Given the description of an element on the screen output the (x, y) to click on. 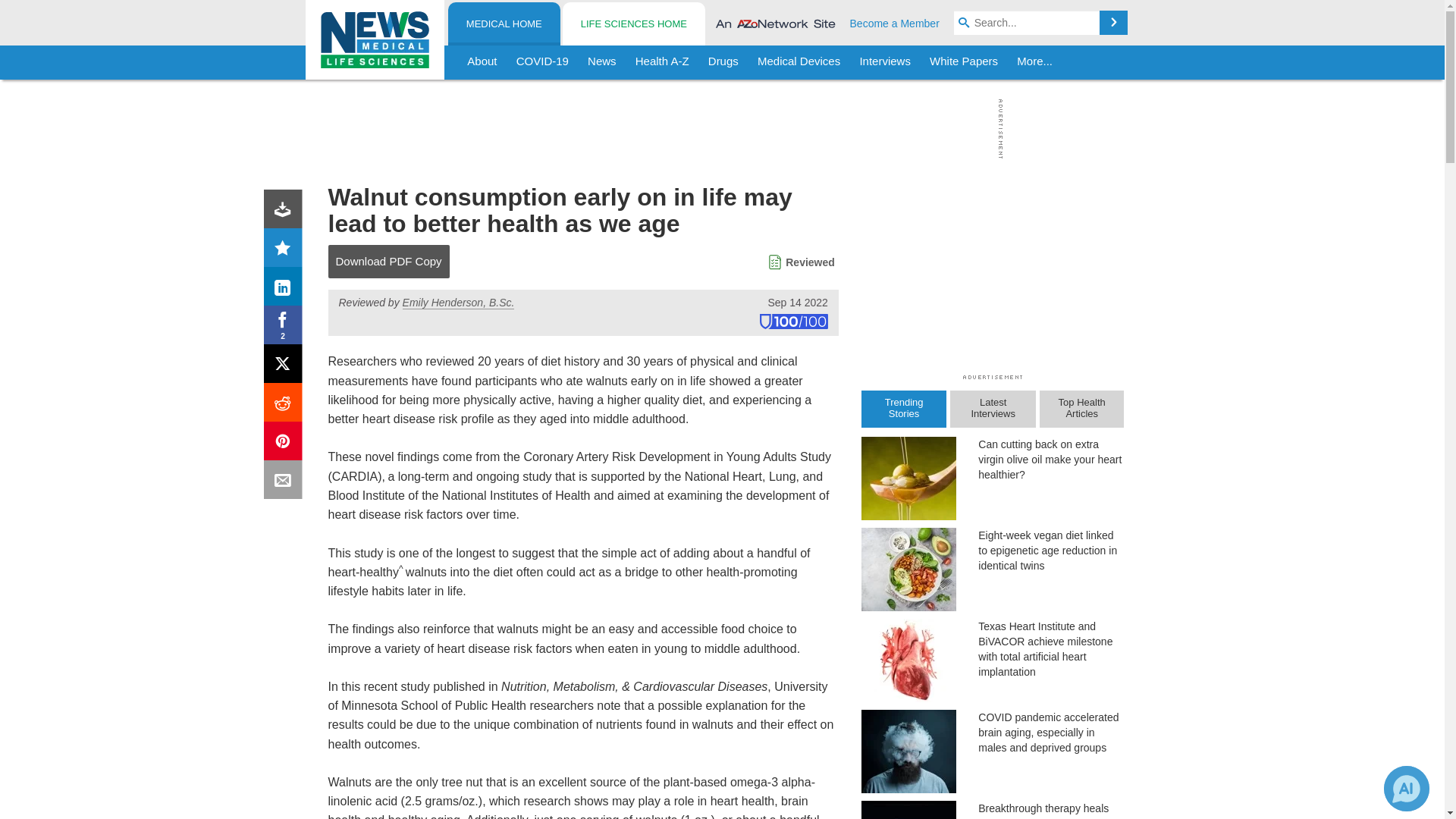
LinkedIn (285, 289)
Facebook (285, 328)
About (482, 62)
COVID-19 (542, 62)
Interviews (884, 62)
Download PDF copy (285, 212)
White Papers (963, 62)
Pinterest (285, 443)
Drugs (722, 62)
More... (1035, 62)
News (601, 62)
Become a Member (894, 22)
Medical Devices (798, 62)
Reddit (285, 405)
